Given the description of an element on the screen output the (x, y) to click on. 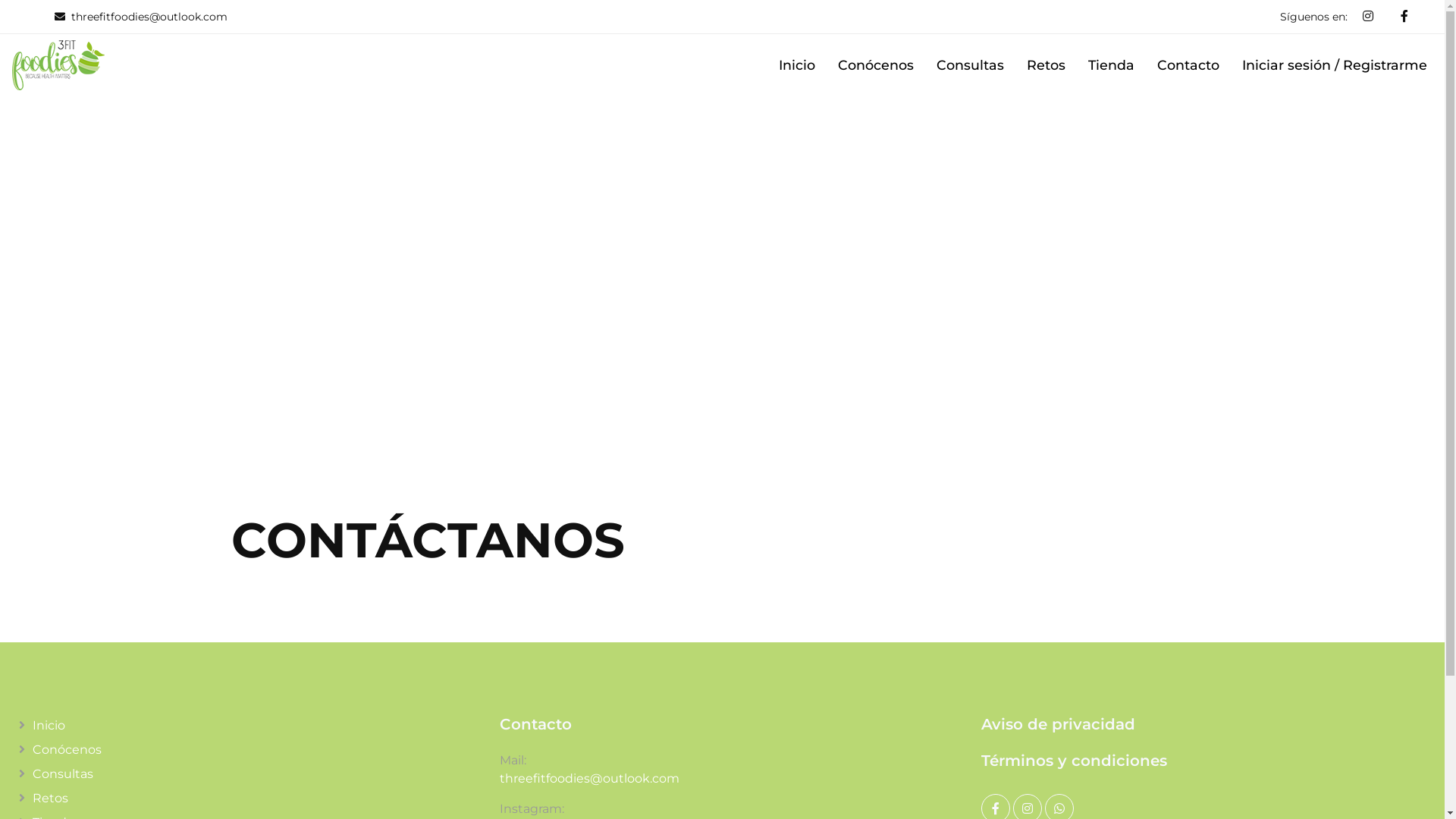
Inicio Element type: text (240, 725)
Retos Element type: text (240, 797)
Contacto Element type: text (1187, 65)
Inicio Element type: text (796, 65)
threefitfoodies@outlook.com Element type: text (589, 787)
Consultas Element type: text (970, 65)
Consultas Element type: text (240, 773)
Tienda Element type: text (1110, 65)
Retos Element type: text (1045, 65)
Aviso de privacidad Element type: text (1203, 724)
